Given the description of an element on the screen output the (x, y) to click on. 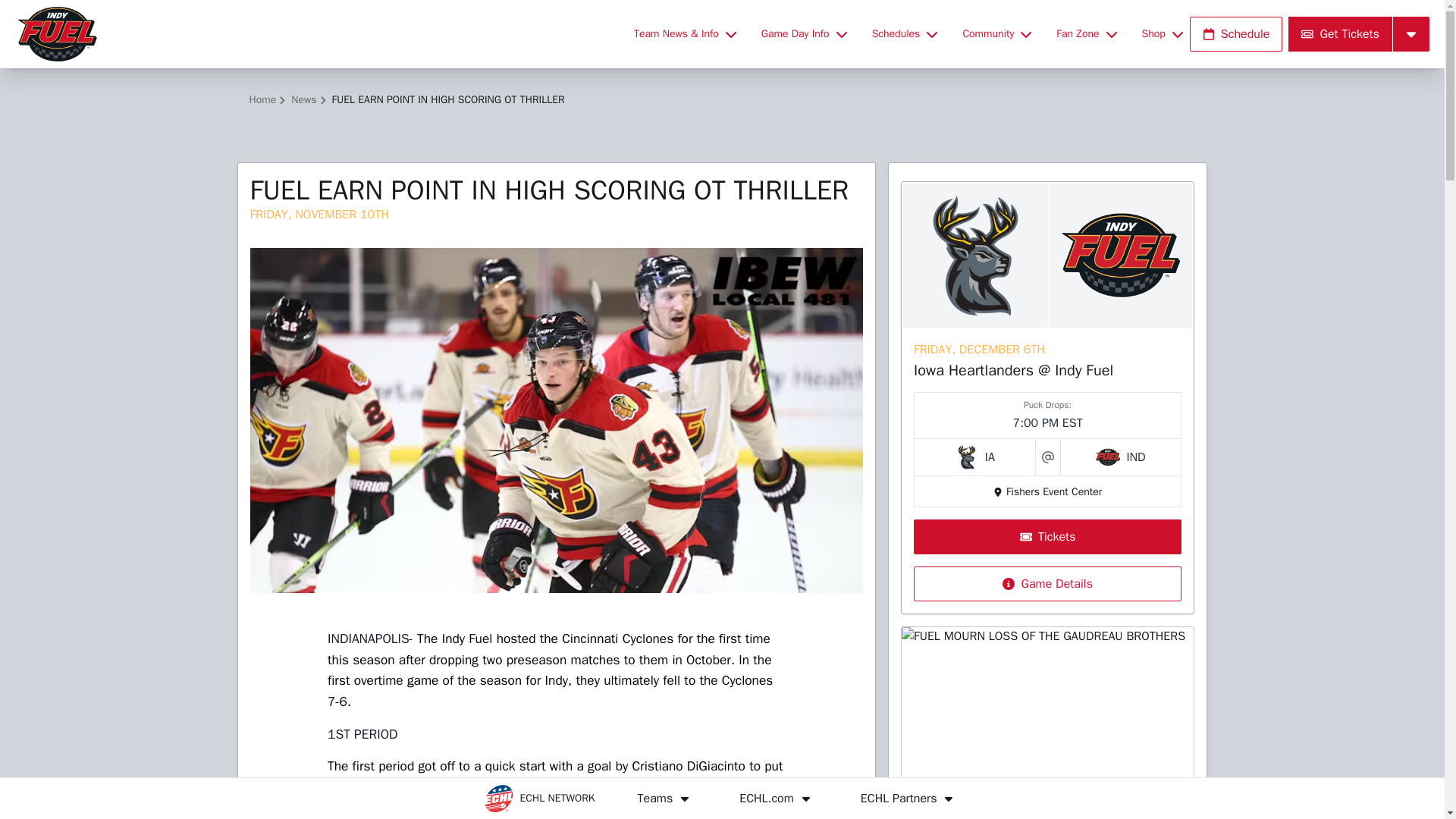
Community (997, 33)
Indy Fuel (314, 33)
Game Day Info (804, 33)
Schedules (905, 33)
Schedule (1236, 33)
Fan Zone (1085, 33)
Shop (1162, 33)
Get Tickets (1339, 33)
